Given the description of an element on the screen output the (x, y) to click on. 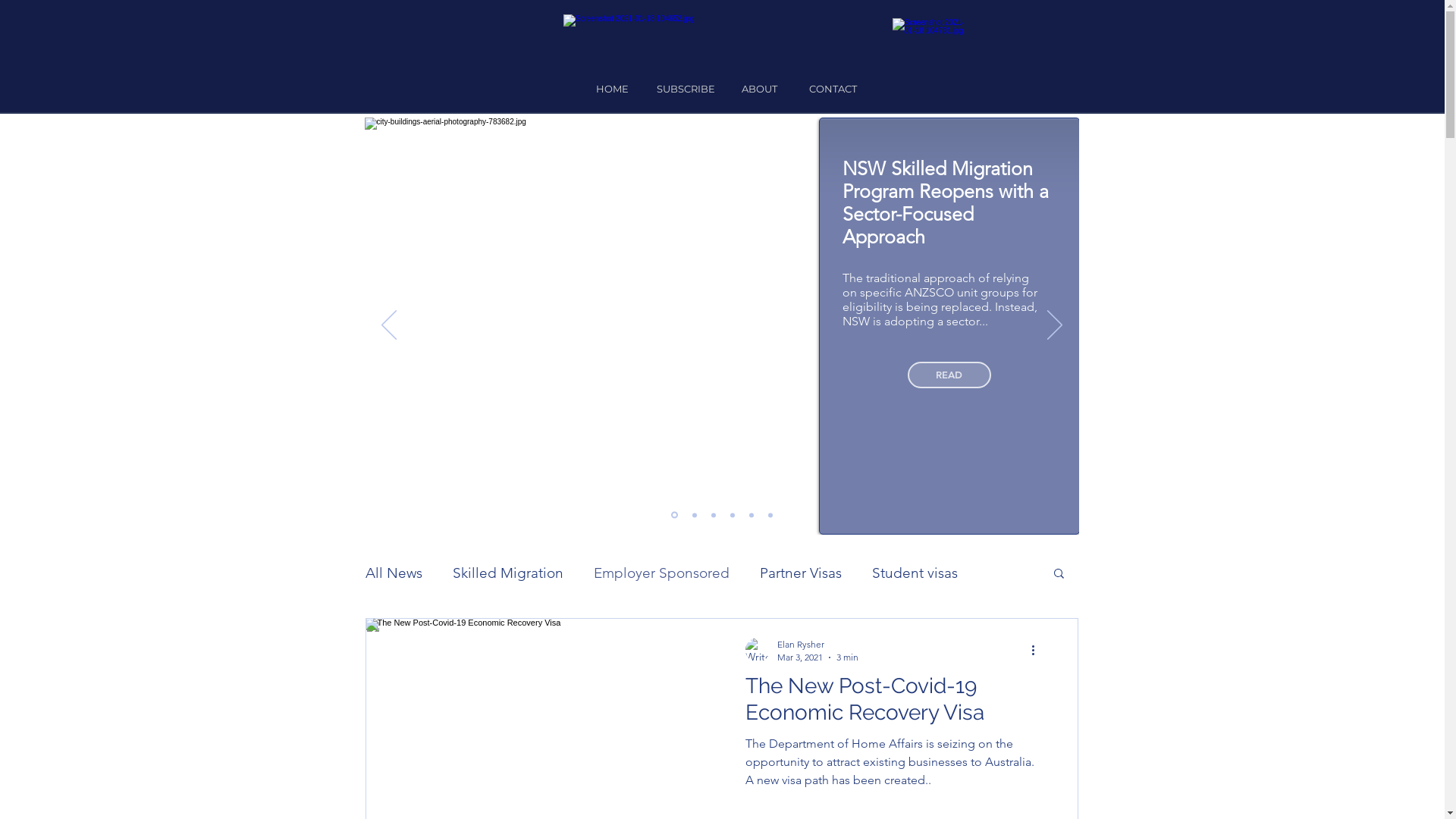
Employer Sponsored Element type: text (660, 572)
CONTACT Element type: text (832, 88)
Student visas Element type: text (914, 572)
Partner Visas Element type: text (800, 572)
All News Element type: text (393, 572)
Skilled Migration Element type: text (506, 572)
SUBSCRIBE Element type: text (685, 88)
HOME Element type: text (611, 88)
ABOUT Element type: text (758, 88)
The New Post-Covid-19 Economic Recovery Visa Element type: text (892, 702)
READ Element type: text (948, 374)
